Given the description of an element on the screen output the (x, y) to click on. 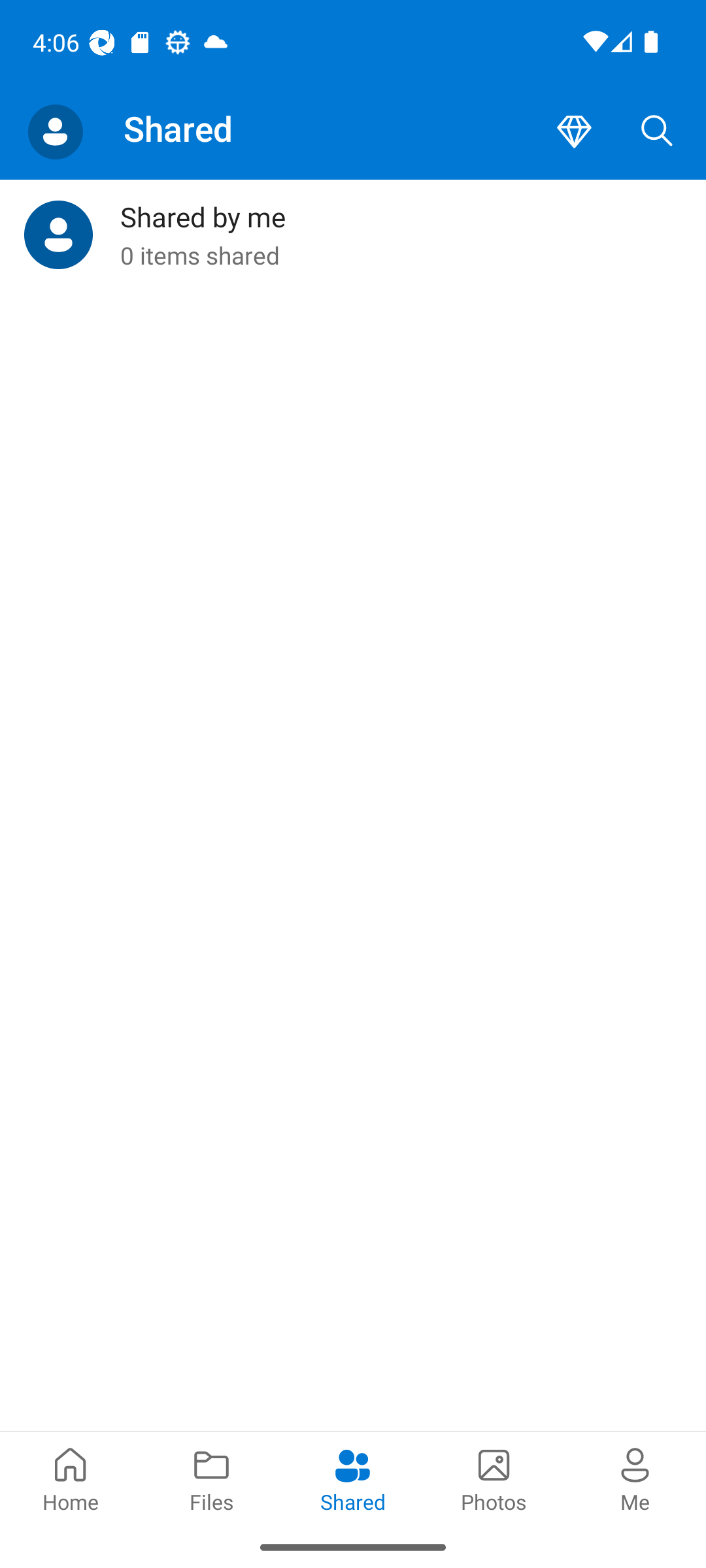
Account switcher (55, 131)
Premium button (574, 131)
Search button (656, 131)
0 Shared by me 0 items shared (353, 235)
Home pivot Home (70, 1478)
Files pivot Files (211, 1478)
Photos pivot Photos (493, 1478)
Me pivot Me (635, 1478)
